Given the description of an element on the screen output the (x, y) to click on. 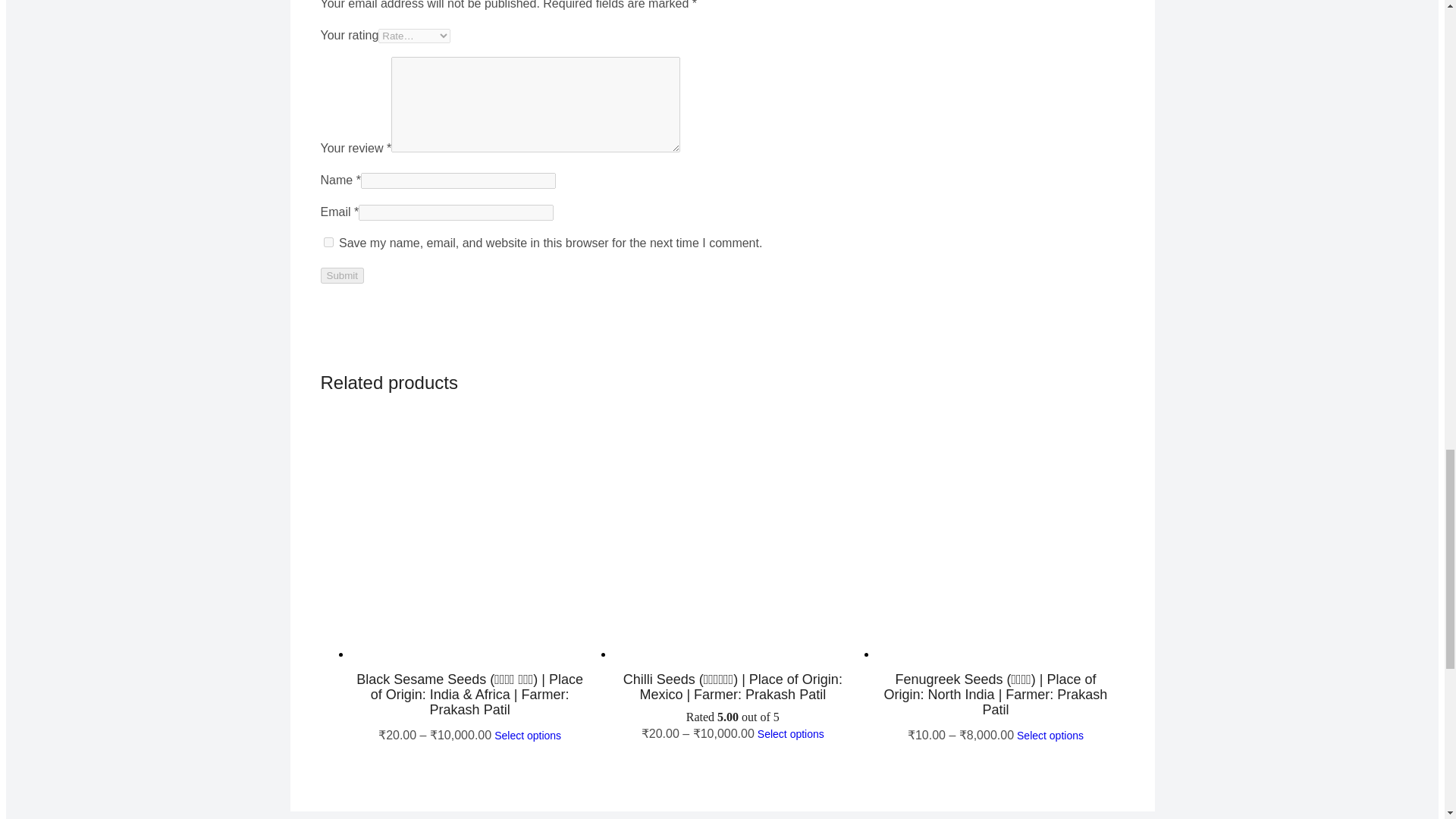
Submit (341, 275)
yes (328, 242)
Submit (341, 275)
